Given the description of an element on the screen output the (x, y) to click on. 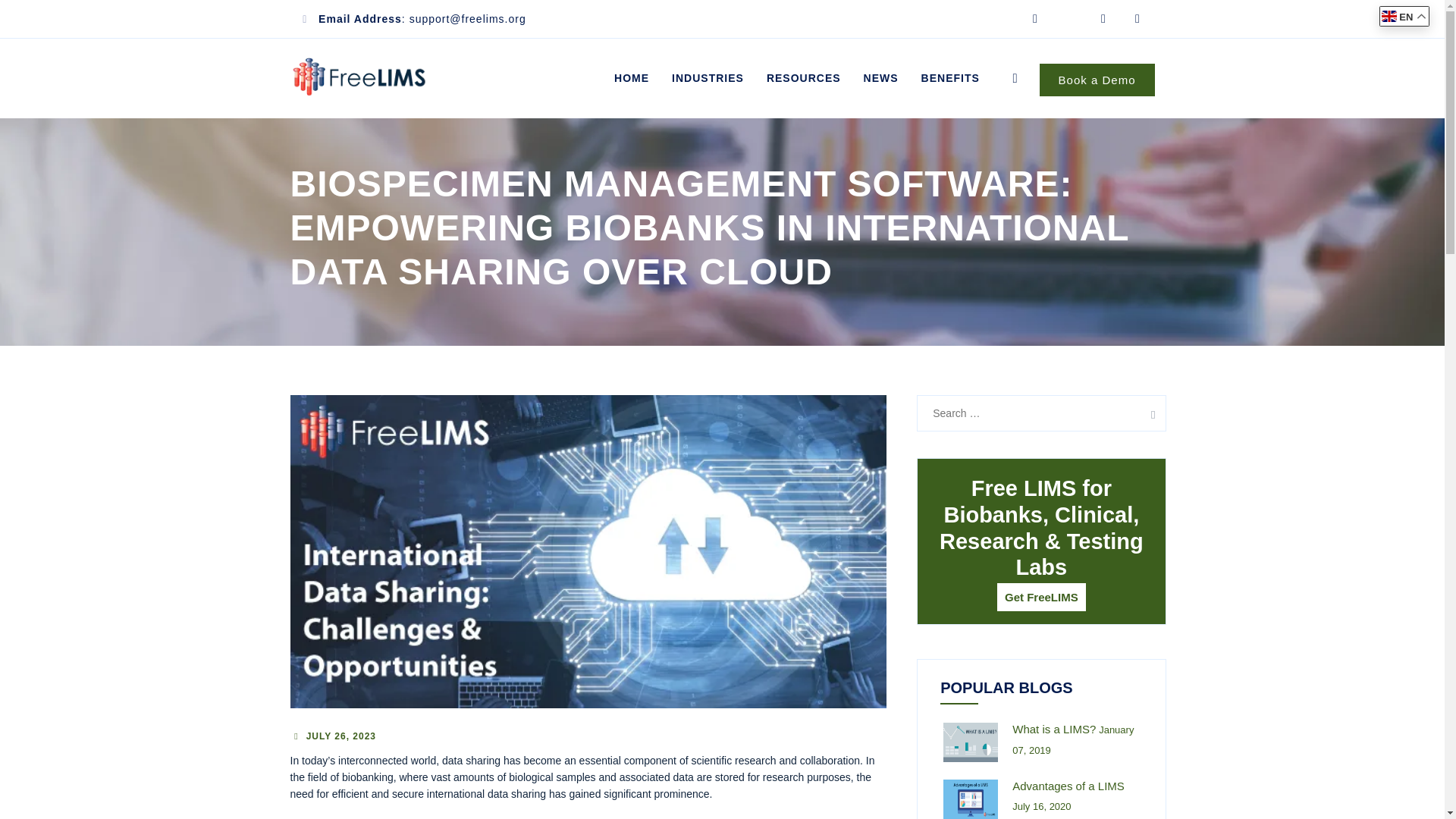
RESOURCES (804, 77)
Facebook (1102, 18)
JULY 26, 2023 (340, 736)
Email Address: (363, 19)
LinkedIn (1034, 18)
Search (1148, 411)
Link (1015, 78)
YouTube (1137, 18)
Date (340, 736)
Search (1148, 411)
FreeLIMS (358, 77)
INDUSTRIES (707, 77)
Book a Demo (1096, 79)
Twitter (1069, 18)
